Given the description of an element on the screen output the (x, y) to click on. 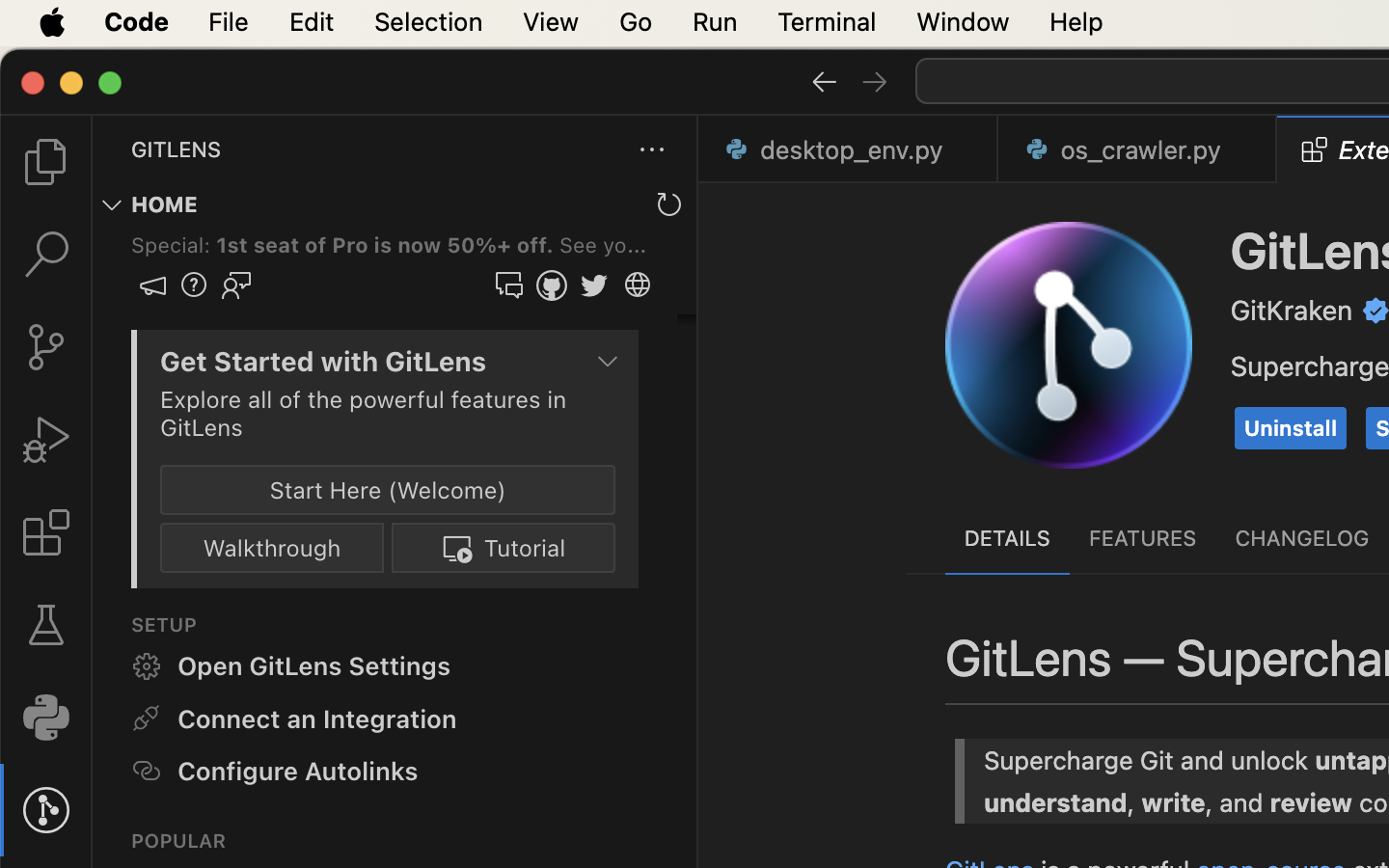
for Element type: AXStaticText (1343, 563)
 Element type: AXButton (609, 217)
code. Focus, collaborate, accelerate. Element type: AXStaticText (1111, 398)
Git CodeLens Element type: AXStaticText (1205, 671)
Inline Blame Element type: AXStaticText (885, 671)
